Given the description of an element on the screen output the (x, y) to click on. 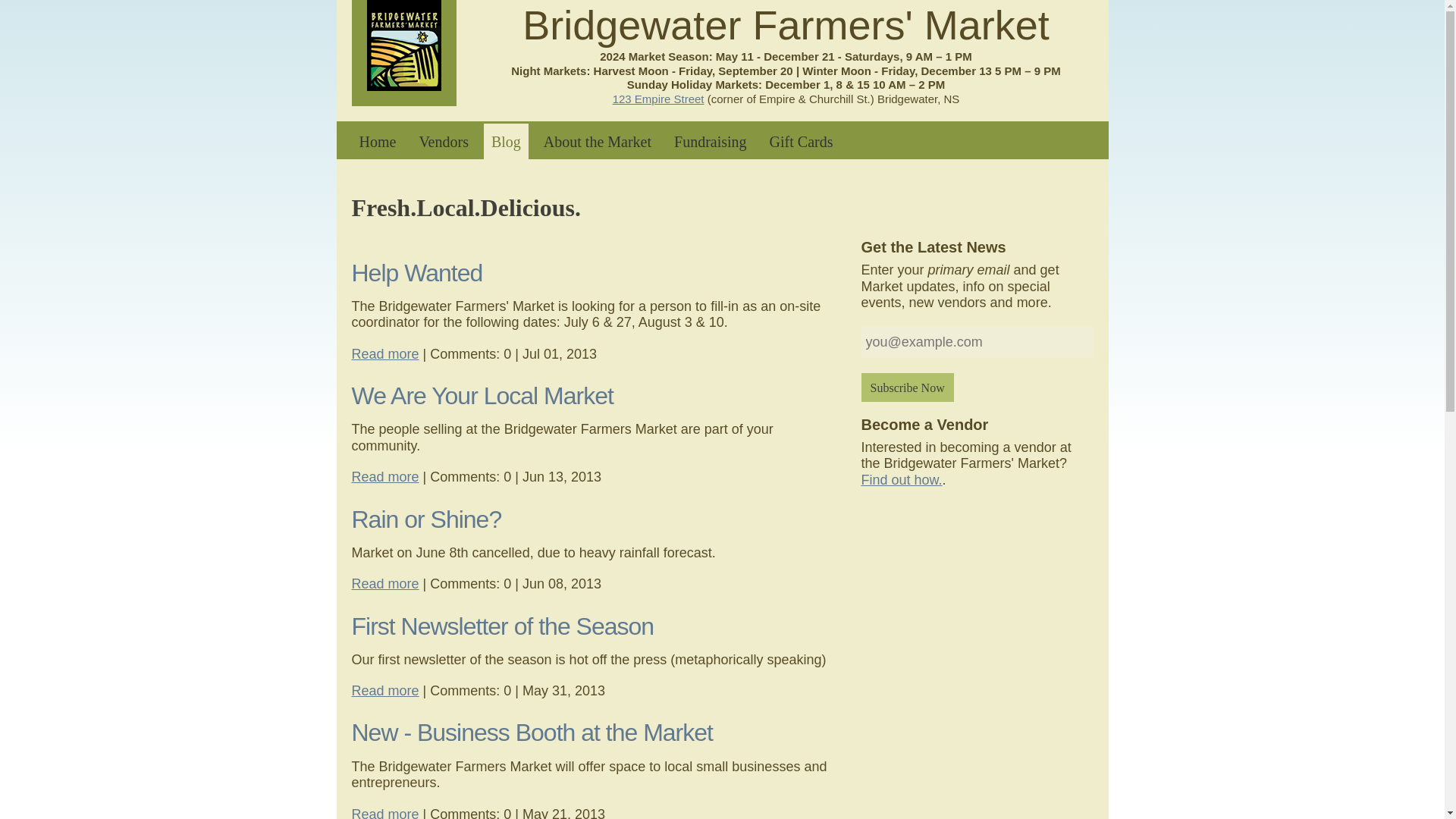
Fundraising (710, 140)
Vendors (443, 140)
Fresh.Local.Delicious. (505, 140)
View location on Google Maps (658, 98)
Fundraising (710, 140)
Rain or Shine? (427, 519)
Blog (505, 140)
Vendors (443, 140)
Read more (385, 476)
Read more (385, 353)
